Given the description of an element on the screen output the (x, y) to click on. 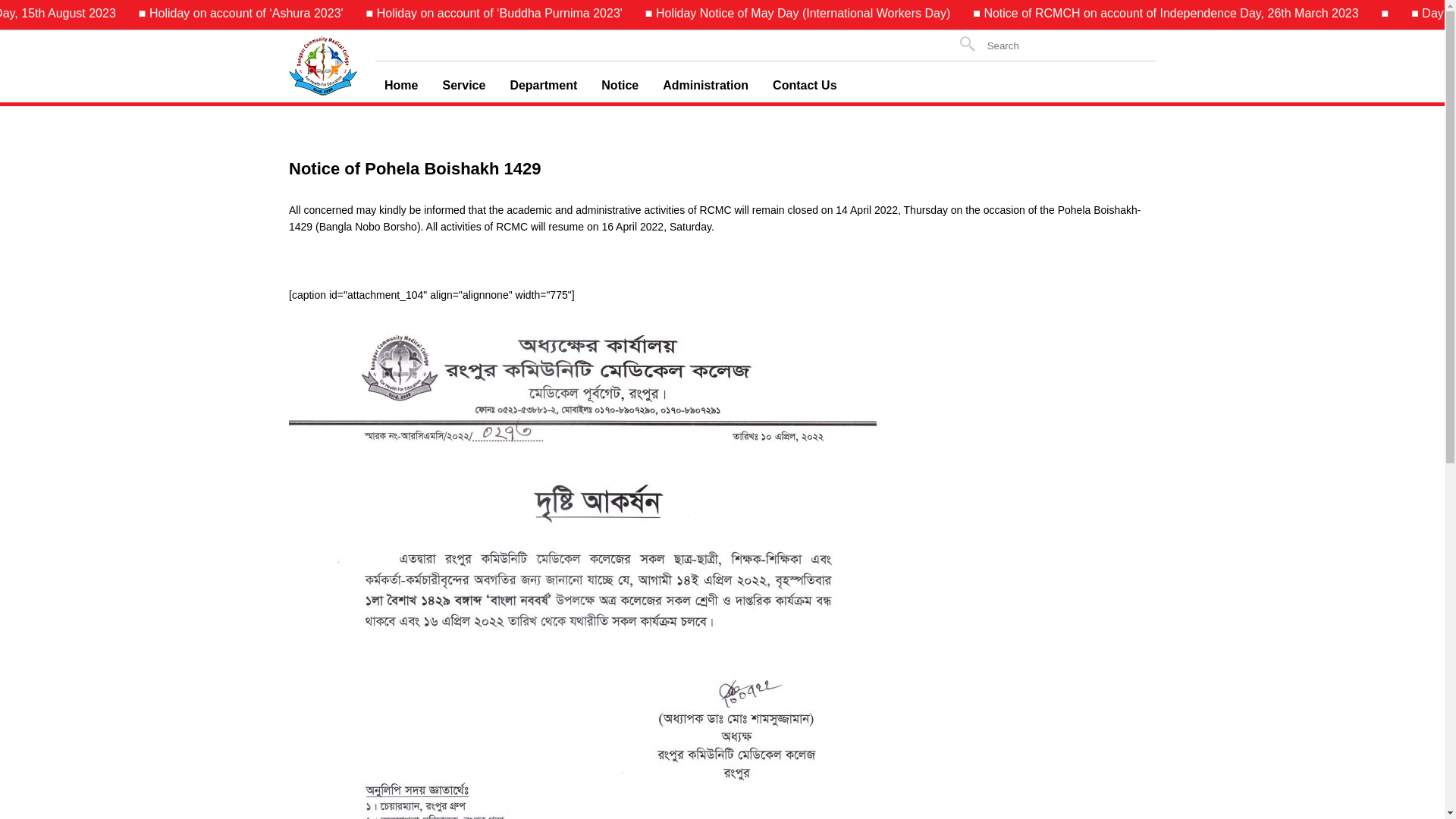
Contact Us Element type: text (804, 85)
Department Element type: text (543, 85)
Service Element type: text (463, 85)
Notice Element type: text (619, 85)
Home Element type: text (400, 85)
Administration Element type: text (705, 85)
